Given the description of an element on the screen output the (x, y) to click on. 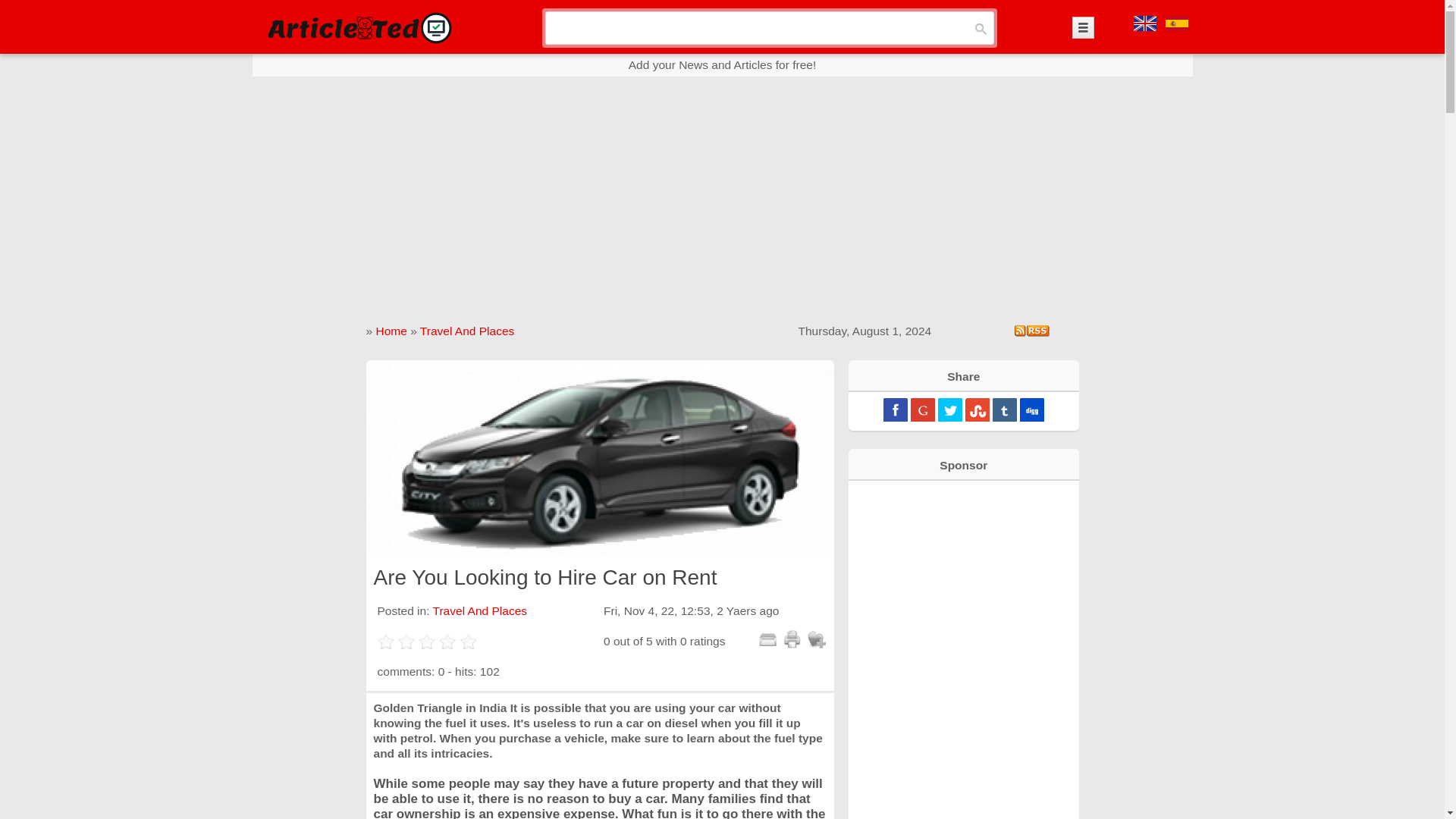
Recommend this Article (767, 638)
Travel And Places (479, 610)
Print This Page (792, 638)
Share this page on digg (1031, 409)
Share this page on tumblr (1004, 409)
Add To Favorites (816, 638)
Are You Looking to Hire Car on Rent (598, 457)
Travel And Places (466, 330)
ArticleTed -  News and Articles (357, 27)
Share this page on googleplus (922, 409)
Share this page on stumbleupon (977, 409)
Share this page on facebook (895, 409)
Share this page on twitter (949, 409)
Home (390, 330)
